Given the description of an element on the screen output the (x, y) to click on. 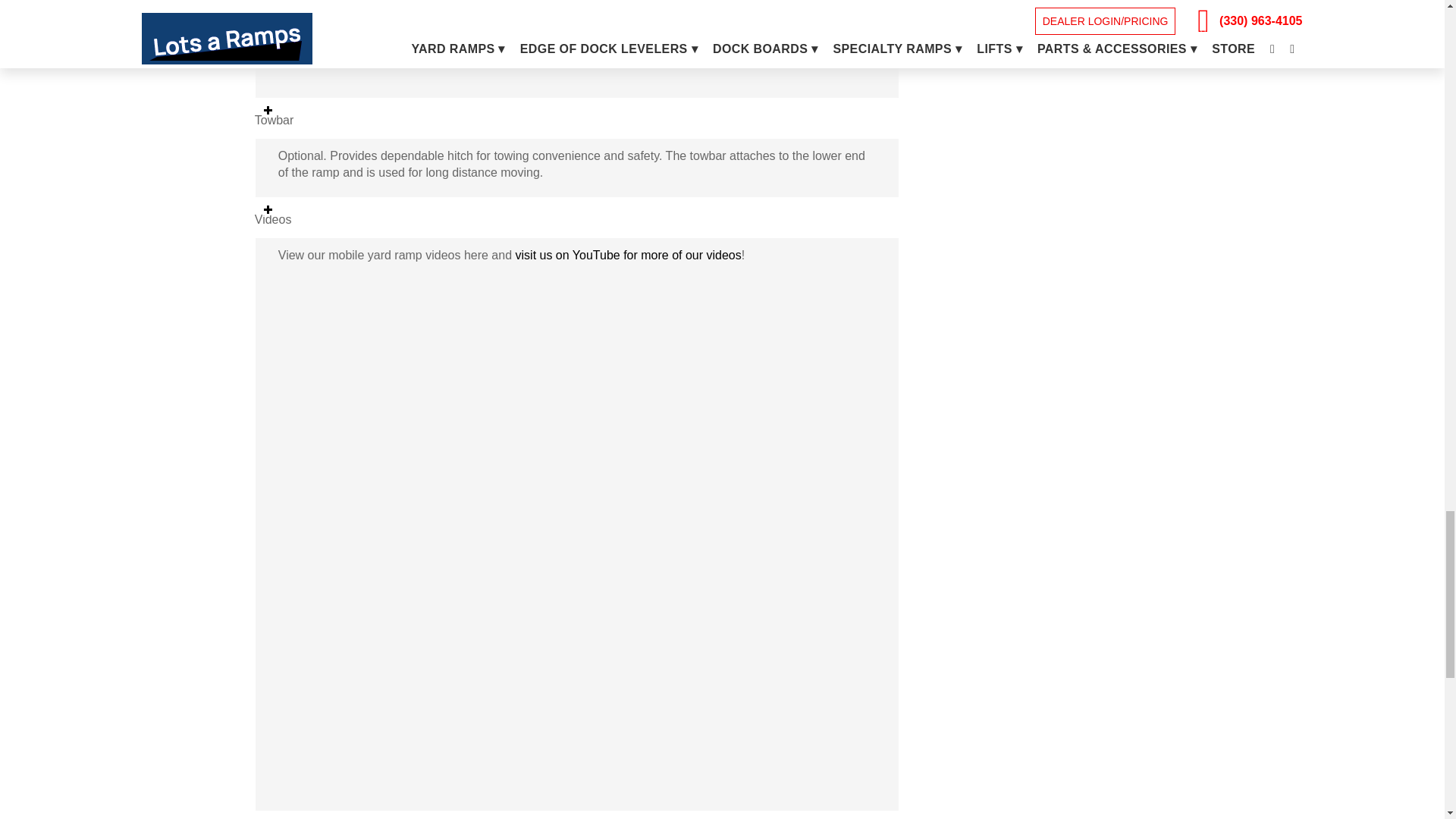
fork lift attachment for mobile yard ramps (576, 39)
loading dock equipment videos from Lots-a-ramps (628, 254)
